Given the description of an element on the screen output the (x, y) to click on. 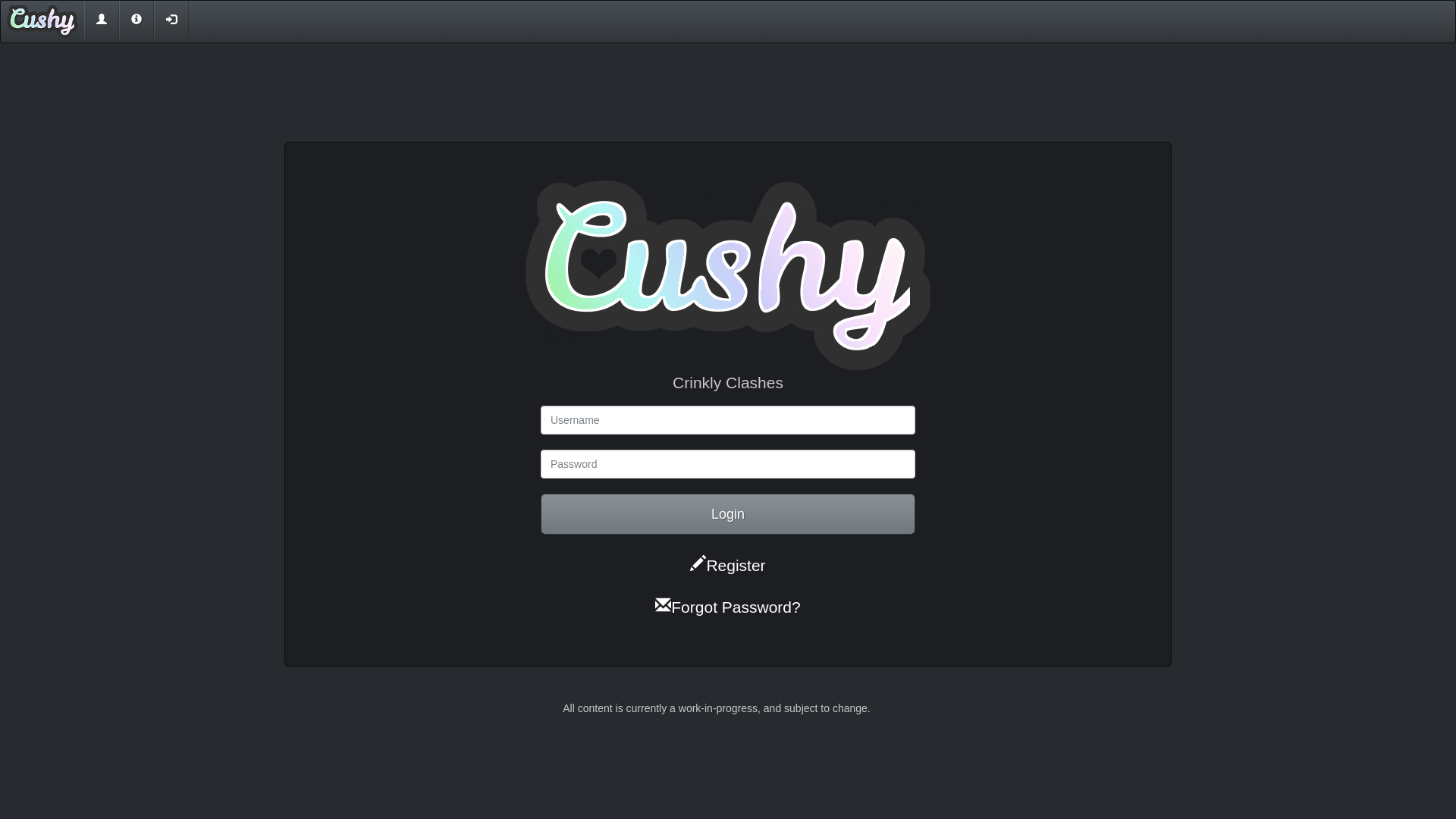
Forgot Password? Element type: text (727, 606)
Login Element type: text (727, 513)
Register Element type: text (727, 564)
